Given the description of an element on the screen output the (x, y) to click on. 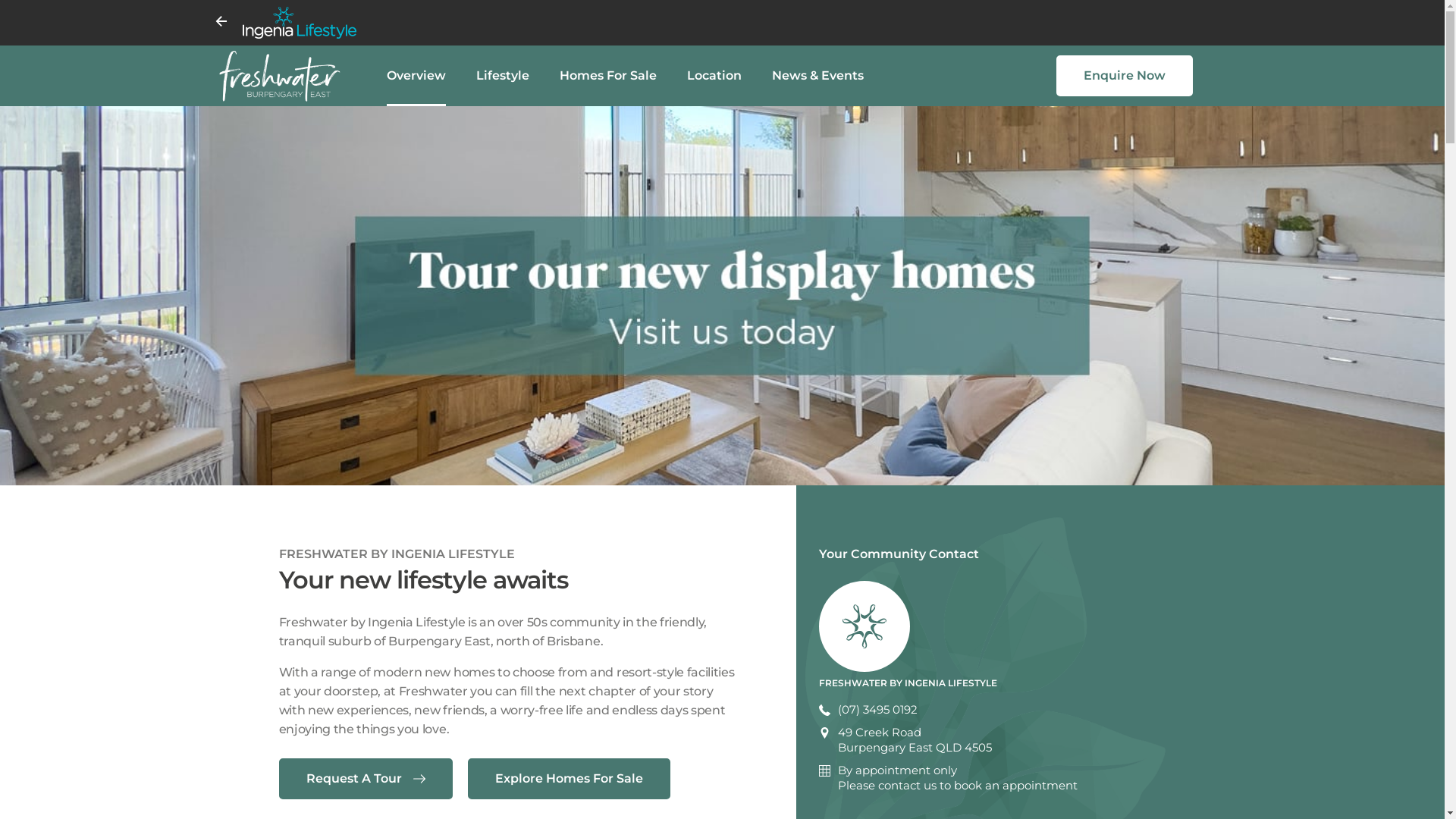
Explore Homes For Sale Element type: text (568, 778)
Enquire Now Element type: text (1123, 75)
Request A Tour Element type: text (365, 778)
News & Events Element type: text (817, 75)
Ingenia Lifestyle Element type: hover (733, 22)
(07) 3495 0192 Element type: text (870, 709)
Lifestyle Element type: text (502, 75)
49 Creek Road
Burpengary East QLD 4505 Element type: text (907, 739)
Overview Element type: text (415, 75)
Homes For Sale Element type: text (607, 75)
Location Element type: text (714, 75)
